Given the description of an element on the screen output the (x, y) to click on. 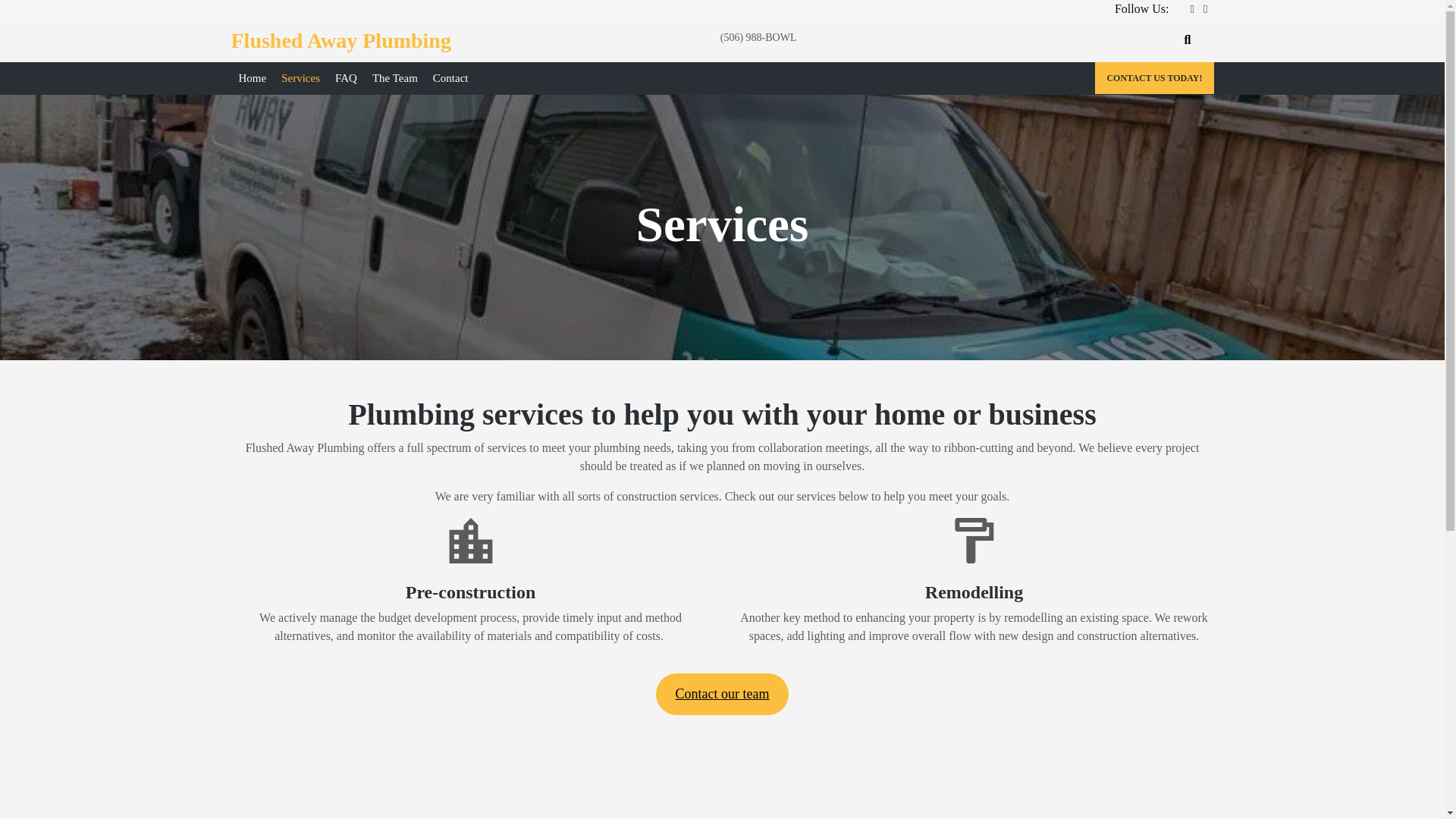
Flushed Away Plumbing (339, 40)
Contact (450, 78)
CONTACT US TODAY! (1153, 78)
Flushed Away Plumbing (339, 40)
The Team (395, 78)
Contact our team (722, 693)
Services (300, 78)
Home (251, 78)
FAQ (346, 78)
